Given the description of an element on the screen output the (x, y) to click on. 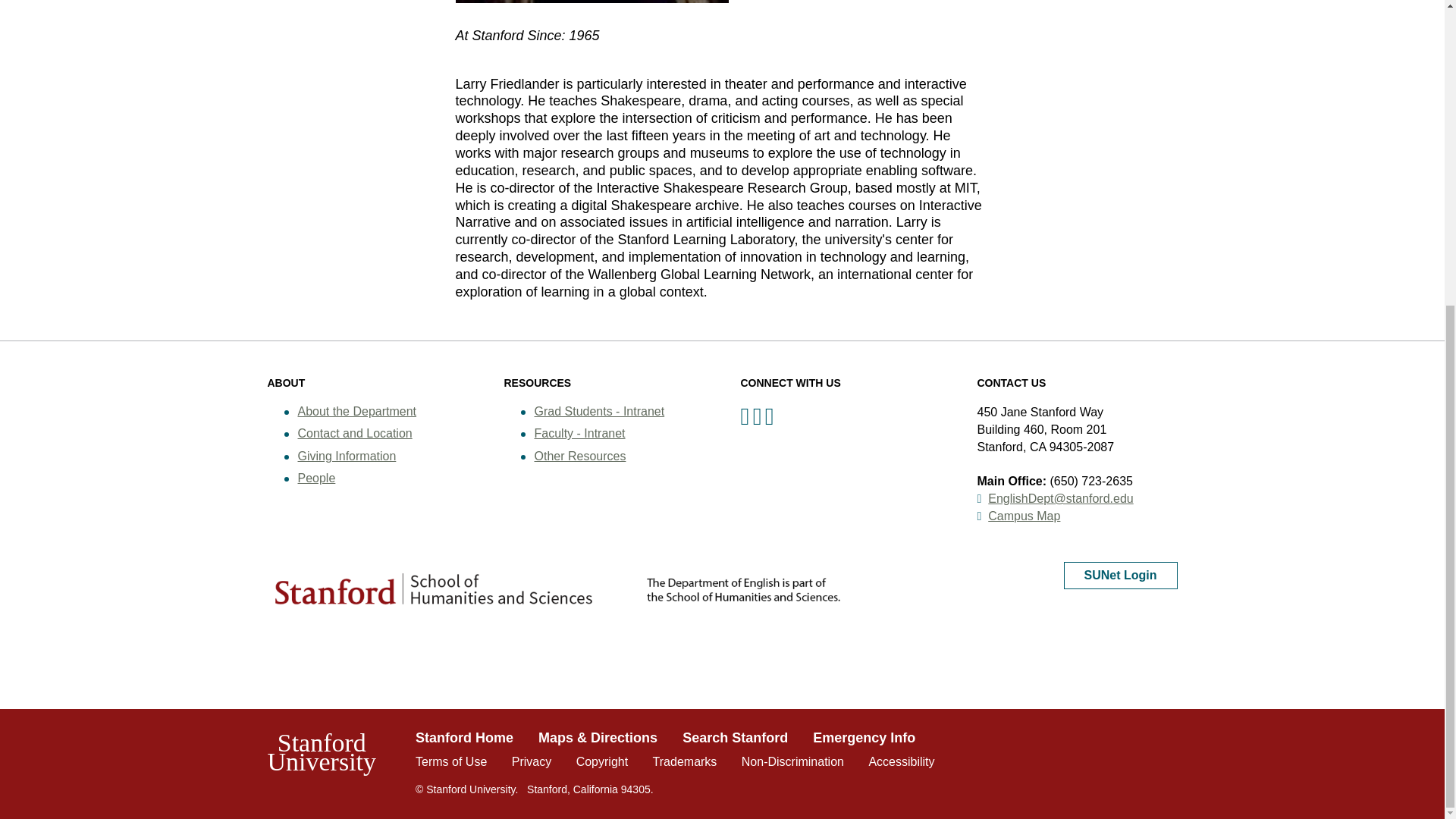
Faculty-Intranet (579, 432)
Privacy and cookie policy (531, 761)
Report web accessibility issues (900, 761)
Non-discrimination policy (792, 761)
Ownership and use of Stanford trademarks and images (684, 761)
Report alleged copyright infringement (601, 761)
Terms of use for sites (450, 761)
